Given the description of an element on the screen output the (x, y) to click on. 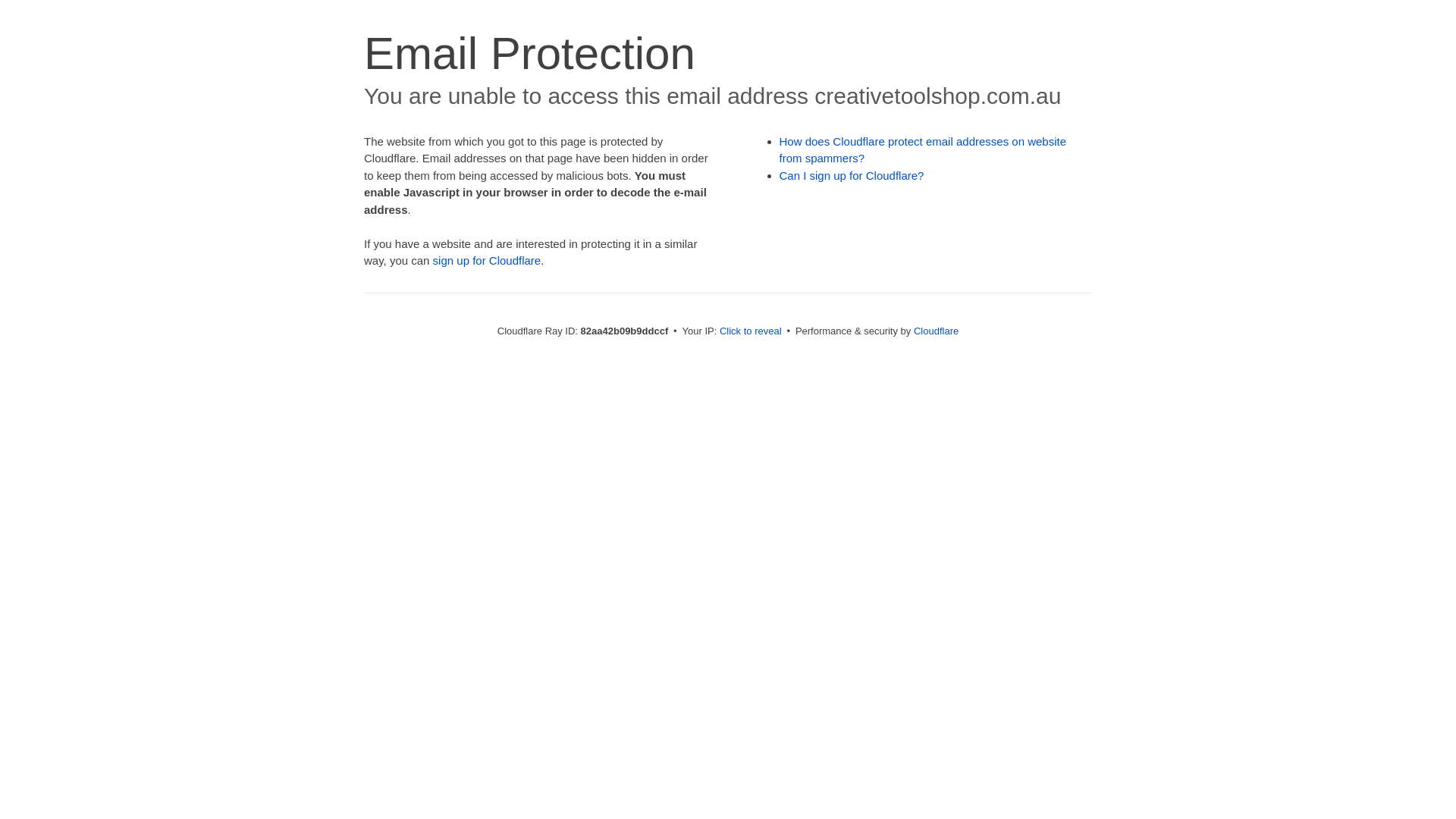
Cloudflare Element type: text (935, 330)
Can I sign up for Cloudflare? Element type: text (851, 175)
Click to reveal Element type: text (750, 330)
sign up for Cloudflare Element type: text (487, 260)
